Given the description of an element on the screen output the (x, y) to click on. 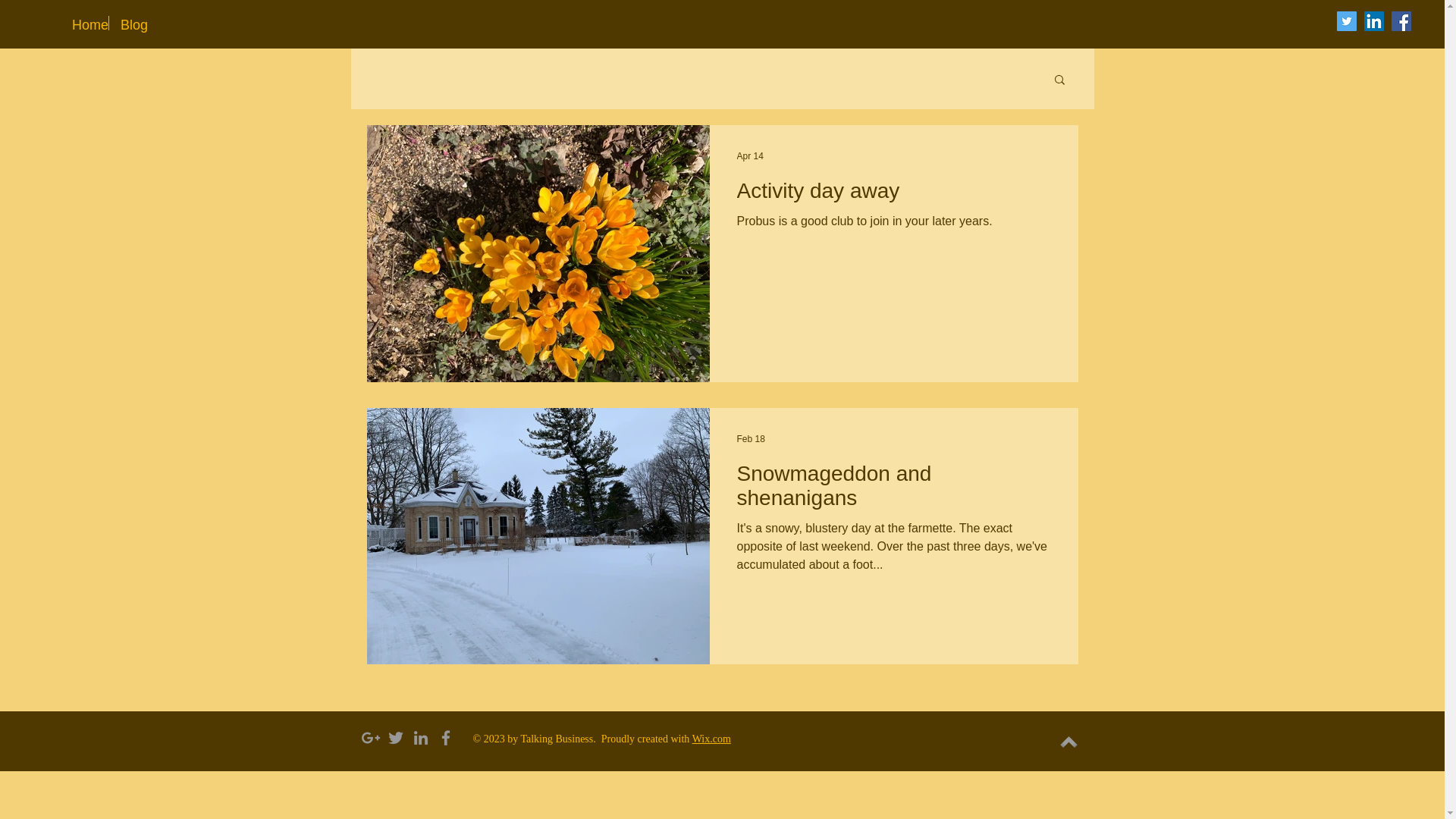
Apr 14 (749, 155)
Feb 18 (750, 439)
Wix.com (711, 738)
Activity day away (893, 195)
Home (84, 22)
Blog (130, 22)
Snowmageddon and shenanigans (893, 490)
